Given the description of an element on the screen output the (x, y) to click on. 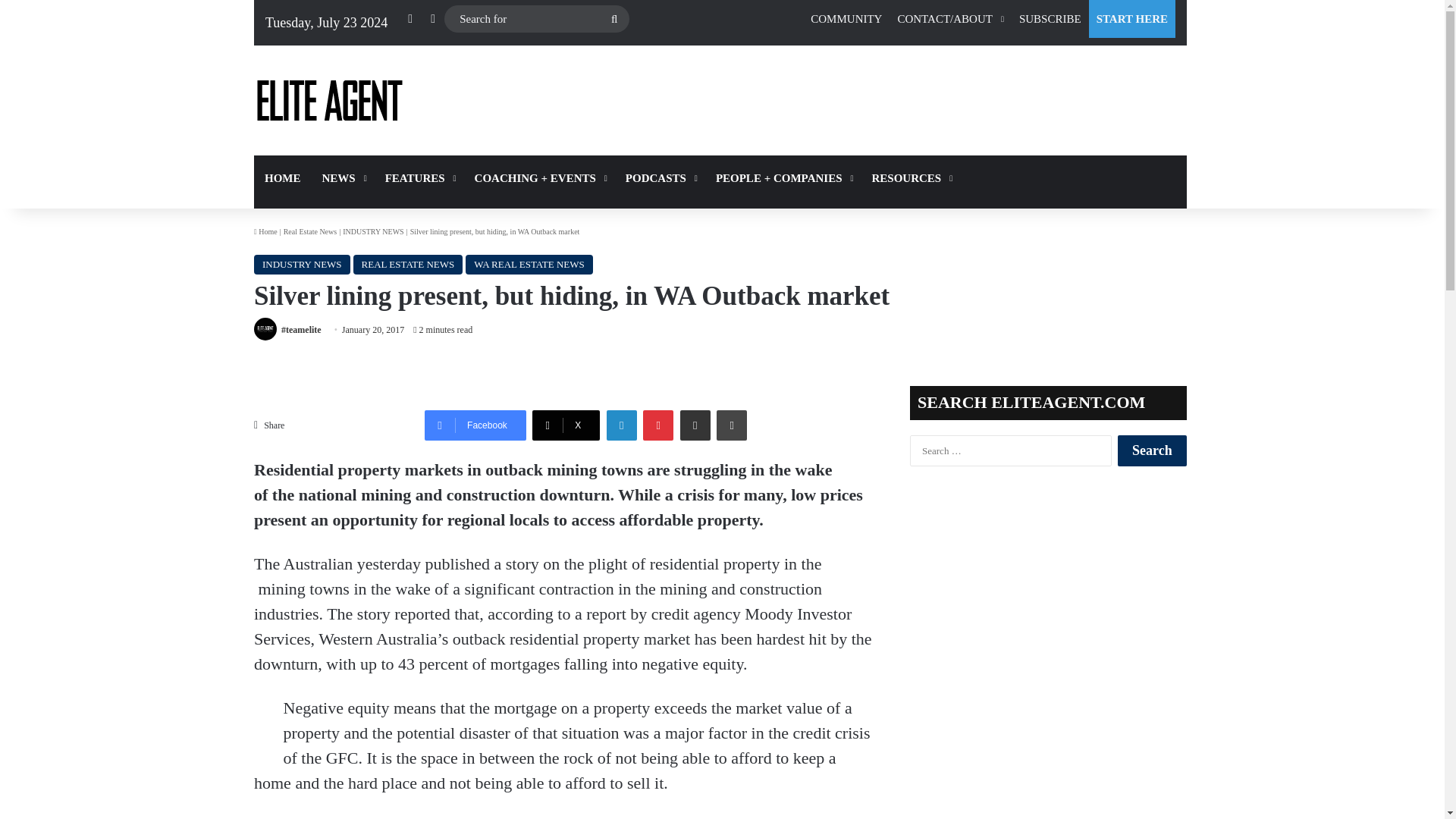
Facebook (475, 425)
LinkedIn (622, 425)
Search (1152, 450)
FEATURES (419, 177)
HOME (282, 177)
Search for (536, 18)
Pinterest (657, 425)
NEWS (342, 177)
Search (1152, 450)
START HERE (1131, 18)
Print (731, 425)
X (565, 425)
Share via Email (694, 425)
Elite Agent (329, 100)
COMMUNITY (846, 18)
